Given the description of an element on the screen output the (x, y) to click on. 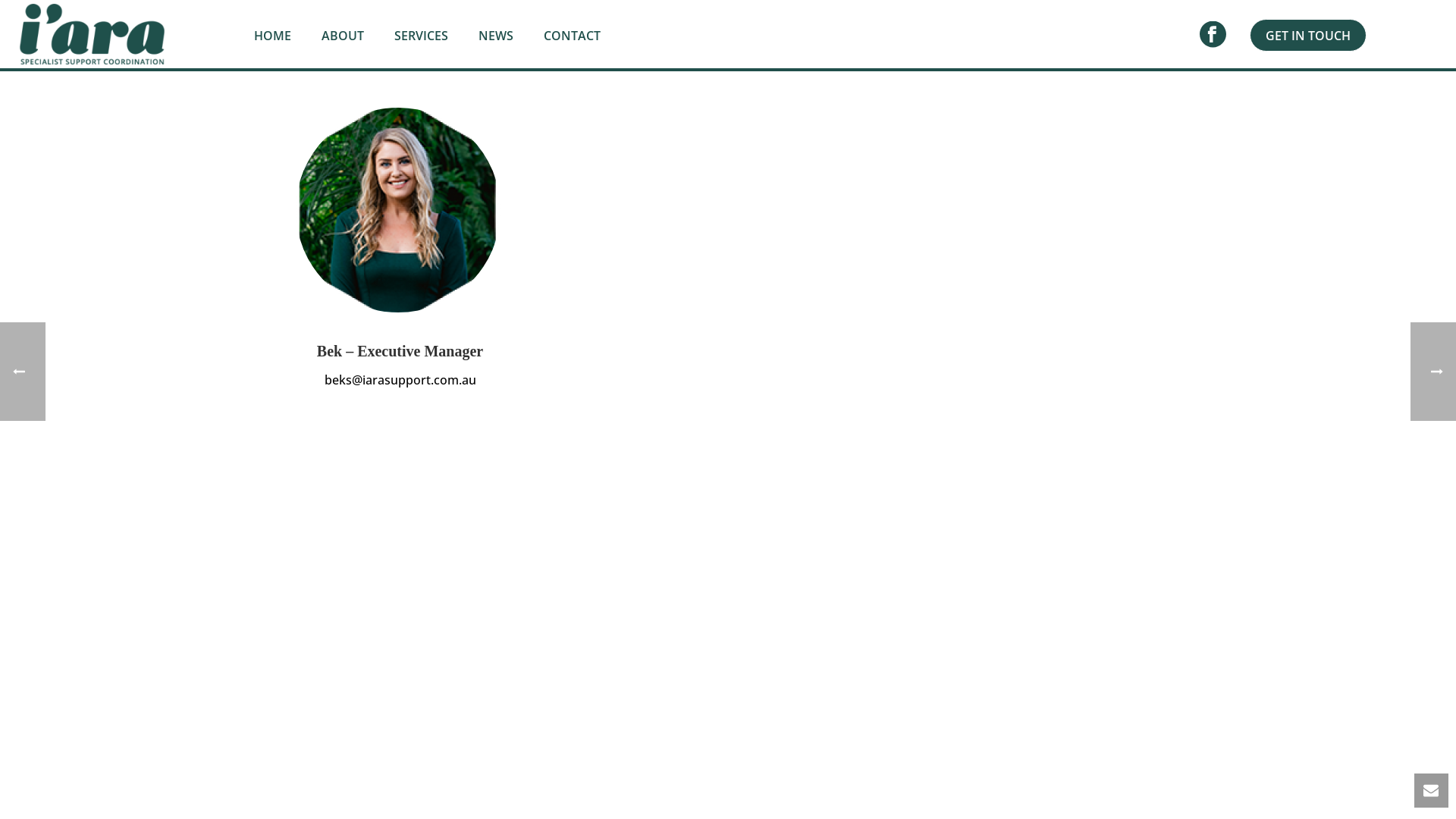
CONTACT Element type: text (571, 34)
HOME Element type: text (272, 34)
GET IN TOUCH Element type: text (1307, 34)
SERVICES Element type: text (421, 34)
NEWS Element type: text (495, 34)
ABOUT Element type: text (342, 34)
